Given the description of an element on the screen output the (x, y) to click on. 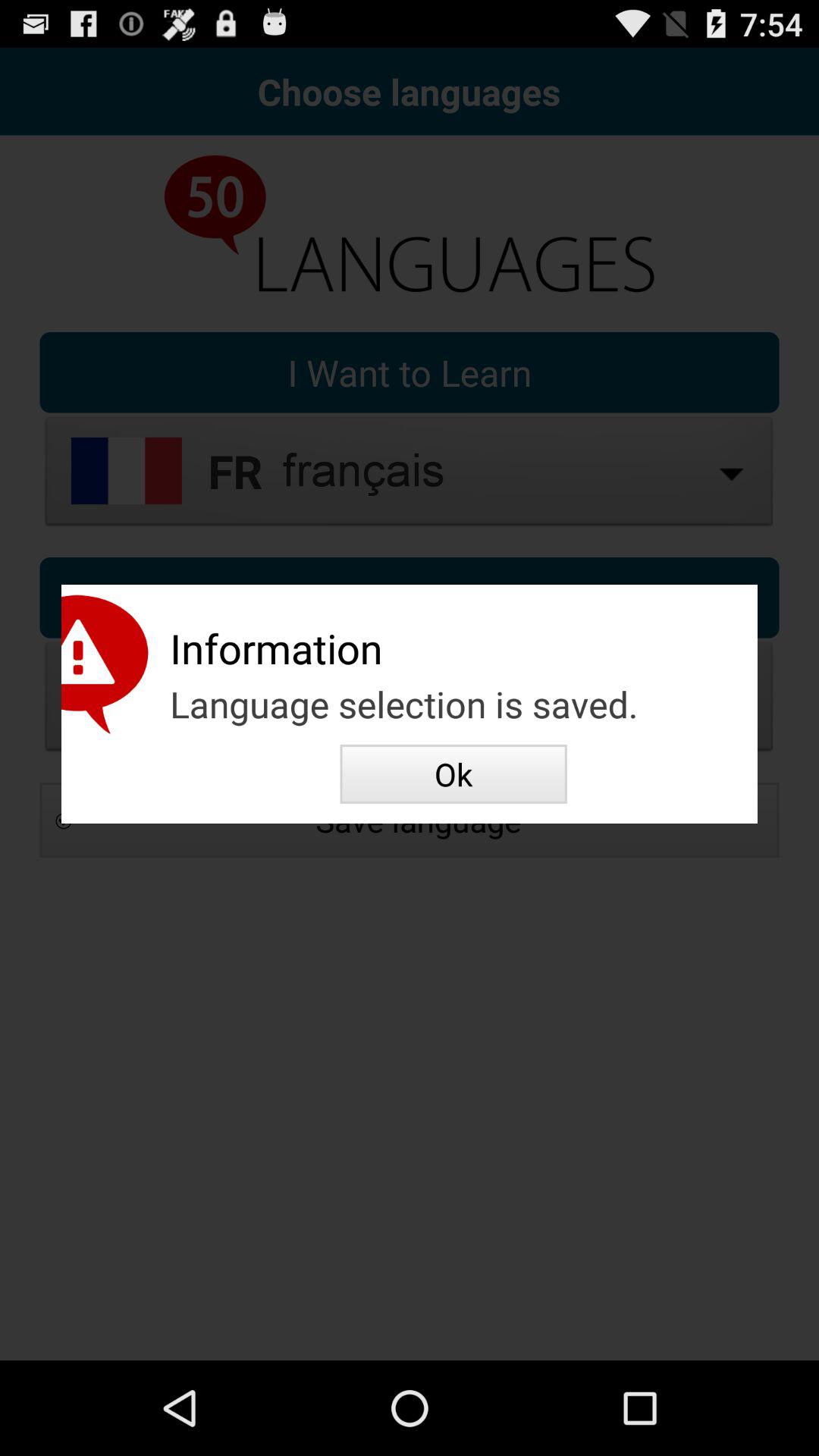
swipe until the ok (453, 773)
